Given the description of an element on the screen output the (x, y) to click on. 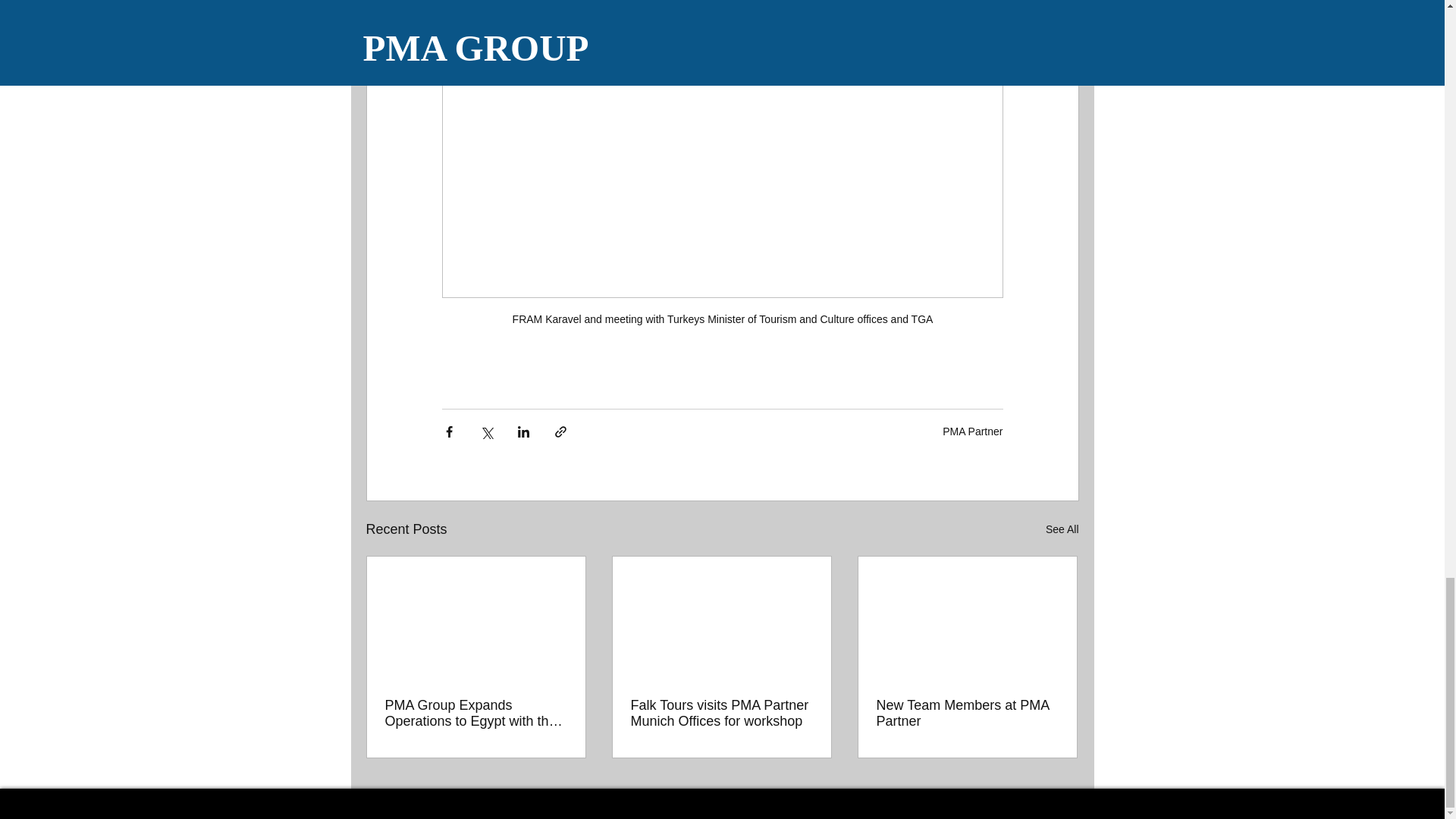
Falk Tours visits PMA Partner Munich Offices for workshop (721, 713)
See All (1061, 529)
New Team Members at PMA Partner (967, 713)
PMA Partner (972, 431)
